Given the description of an element on the screen output the (x, y) to click on. 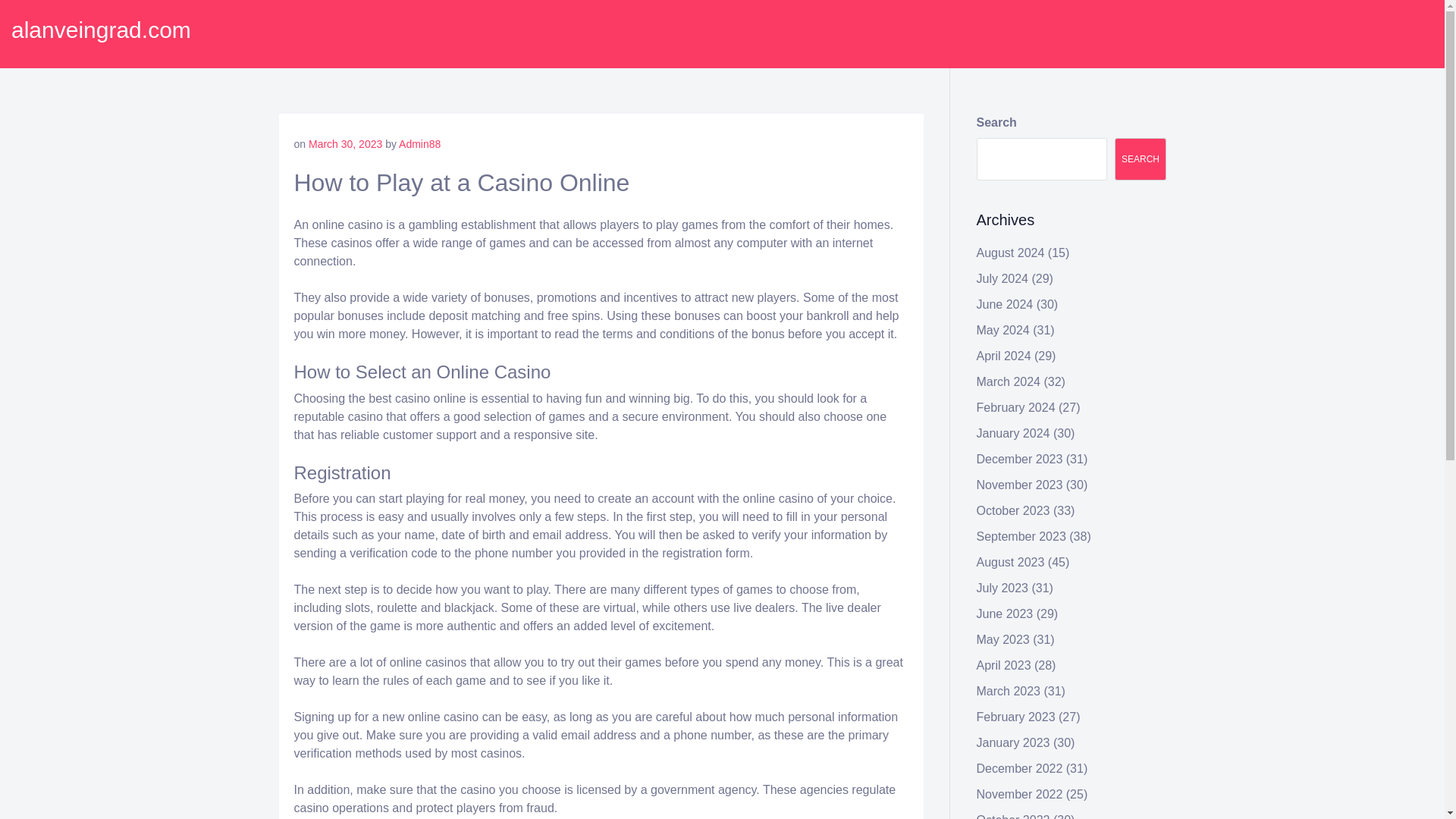
SEARCH (1140, 159)
November 2022 (1019, 793)
June 2023 (1004, 613)
November 2023 (1019, 484)
September 2023 (1020, 535)
January 2024 (1012, 432)
December 2022 (1019, 768)
December 2023 (1019, 459)
October 2023 (1012, 510)
March 2023 (1008, 690)
